Given the description of an element on the screen output the (x, y) to click on. 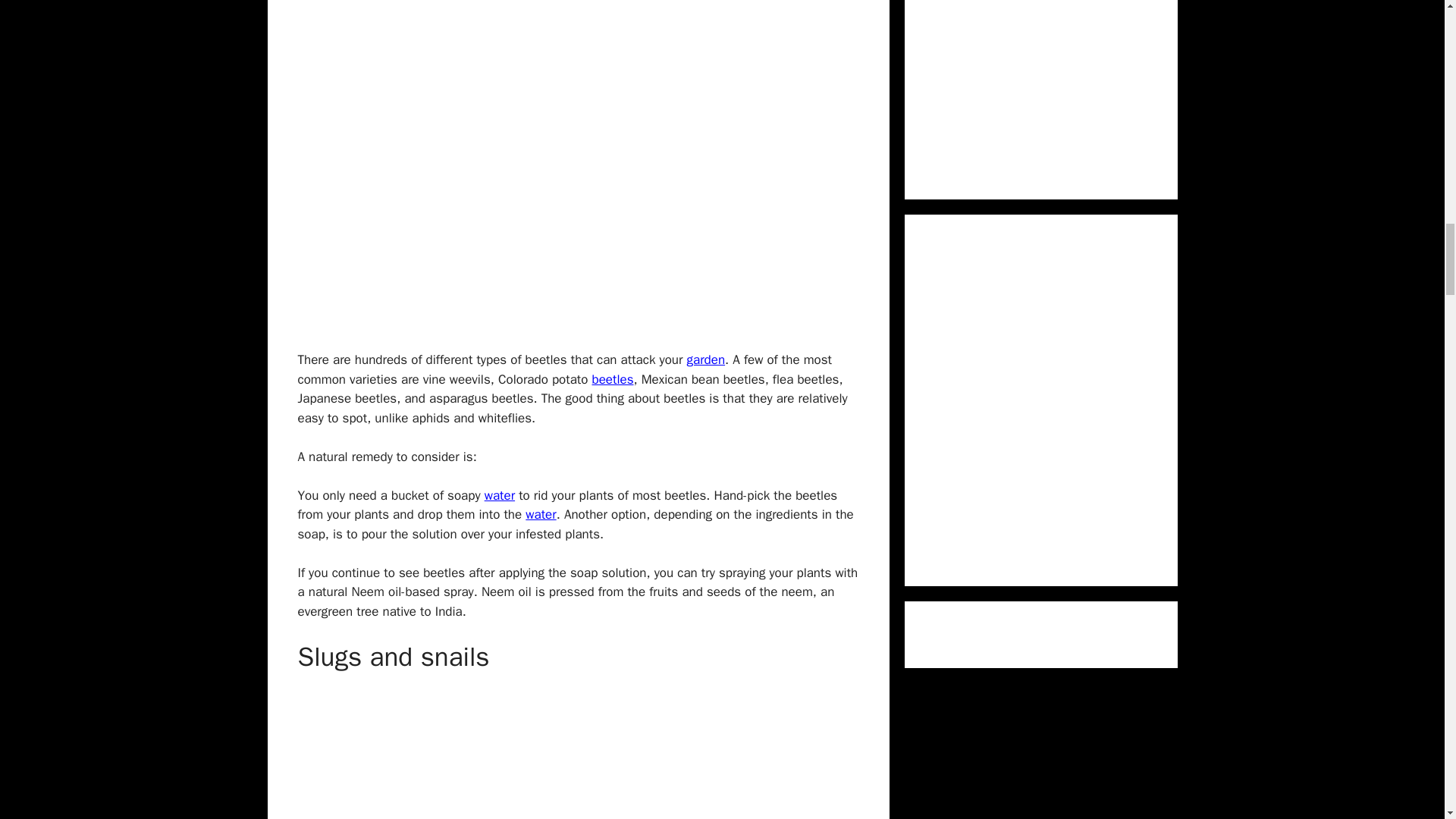
Megadrought USA auto (540, 514)
Megadrought USA auto (499, 495)
Backyard Liberty (706, 359)
